Given the description of an element on the screen output the (x, y) to click on. 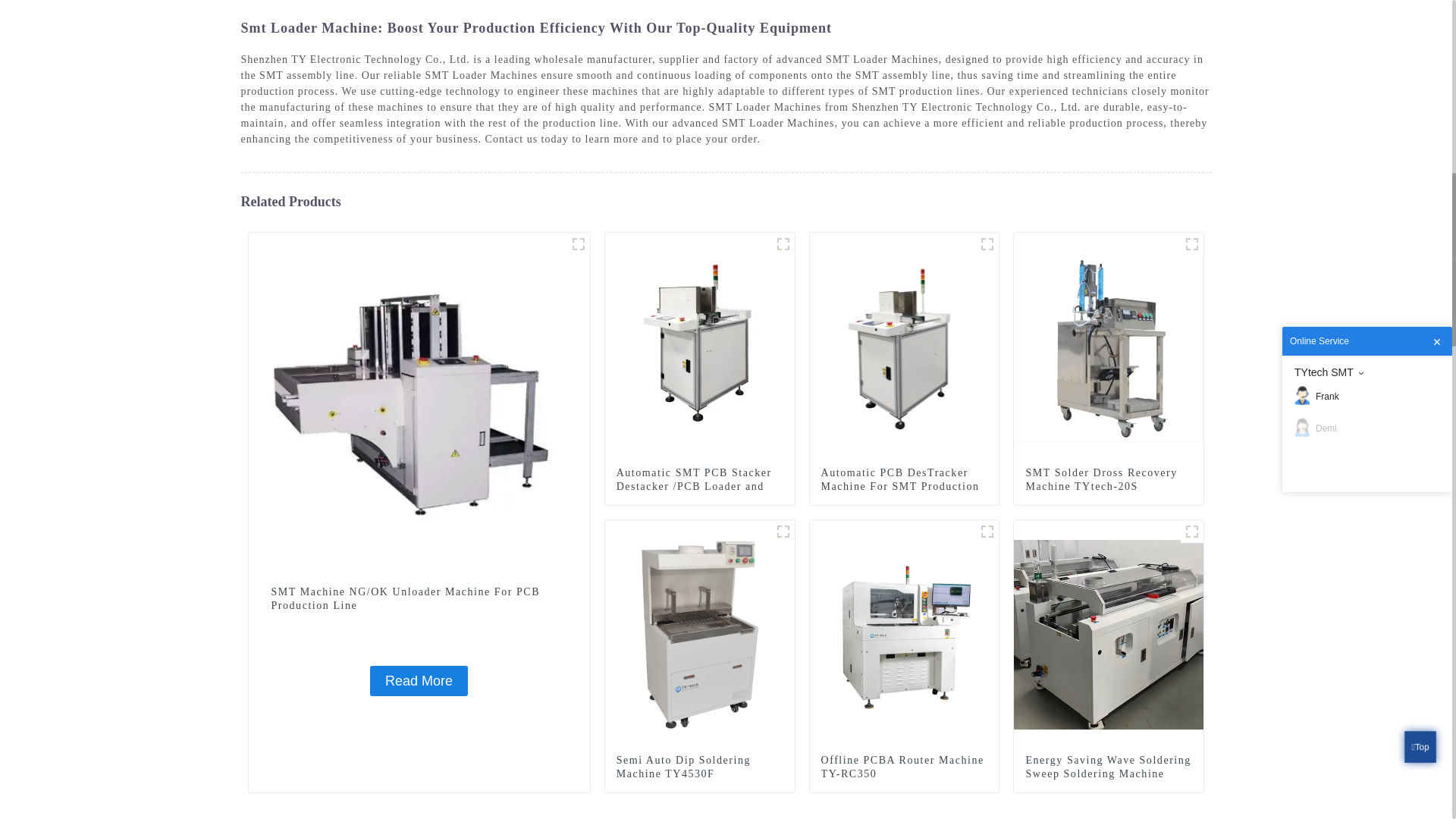
Offline PCBA Router Machine TY-RC350 (904, 767)
Automatic PCB DesTracker Machine For SMT Production Line (904, 486)
Automatic PCB DesTracker Machine For SMT Production Line (903, 346)
Semi Auto Dip Soldering Machine TY4530F (699, 633)
TY-4530F (782, 531)
Offline PCBA Router Machine TY-RC350 (903, 633)
Automatic-PCB-DesTracker-Machine-For-SMT-Production-Line (986, 243)
RC350 (986, 531)
SMT Solder Dross Recovery Machine TYtech-20S (1108, 346)
NGOK Unloader Machine (578, 243)
